Given the description of an element on the screen output the (x, y) to click on. 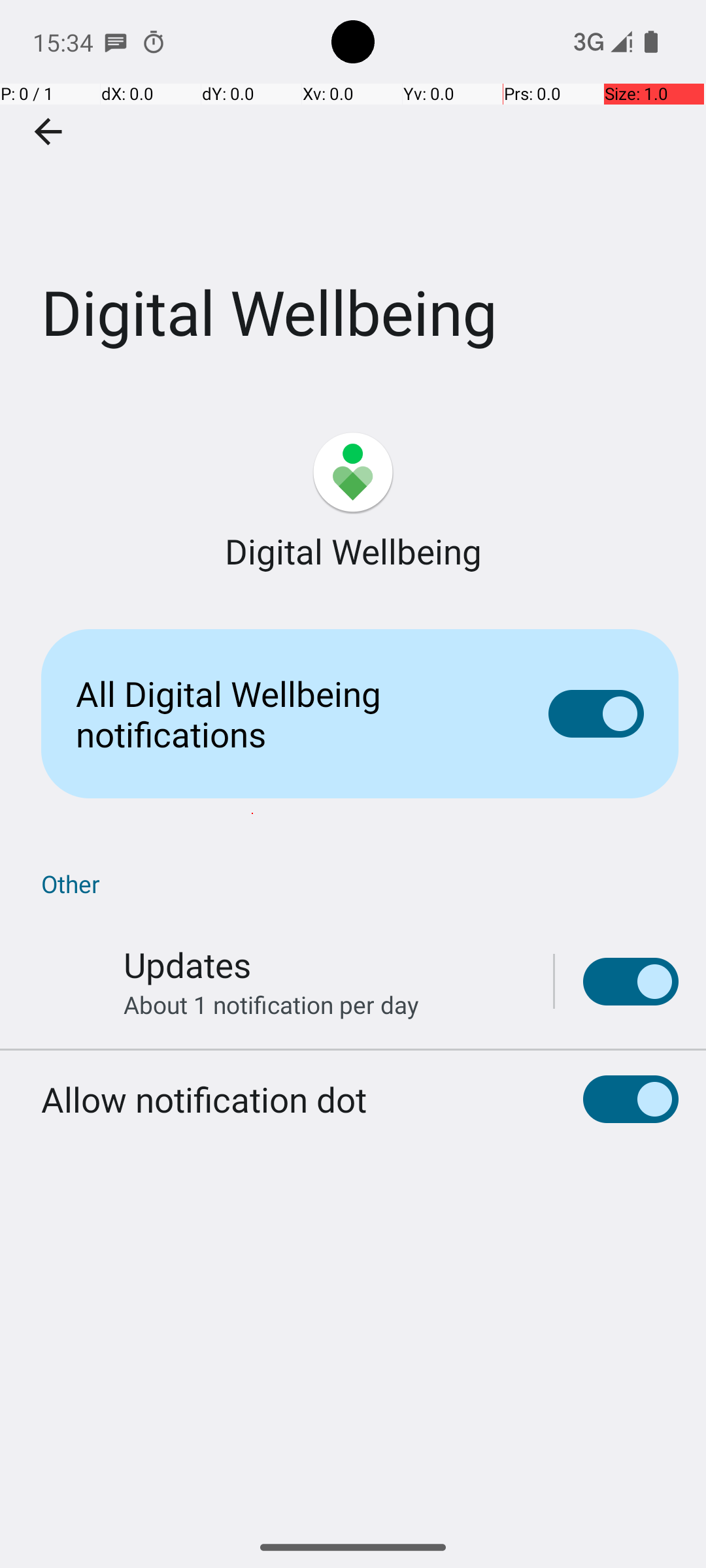
All Digital Wellbeing notifications Element type: android.widget.TextView (291, 713)
Updates Element type: android.widget.TextView (187, 964)
About 1 notification per day Element type: android.widget.TextView (271, 1004)
